Given the description of an element on the screen output the (x, y) to click on. 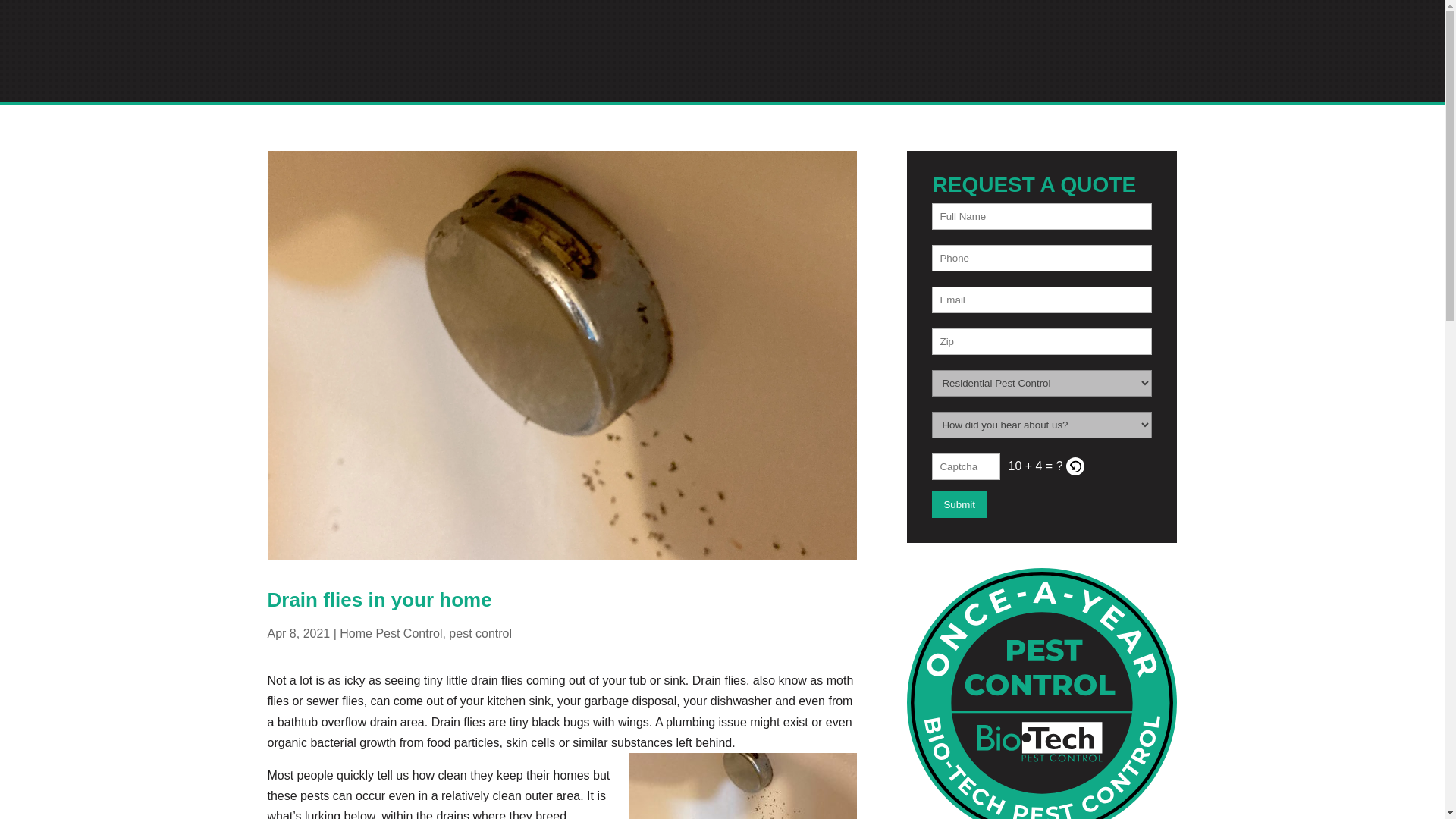
Reload Captcha (1074, 465)
Submit (958, 504)
Home Pest Control (390, 633)
once-a-yr-badge (1041, 693)
Submit (958, 504)
pest control (480, 633)
